Given the description of an element on the screen output the (x, y) to click on. 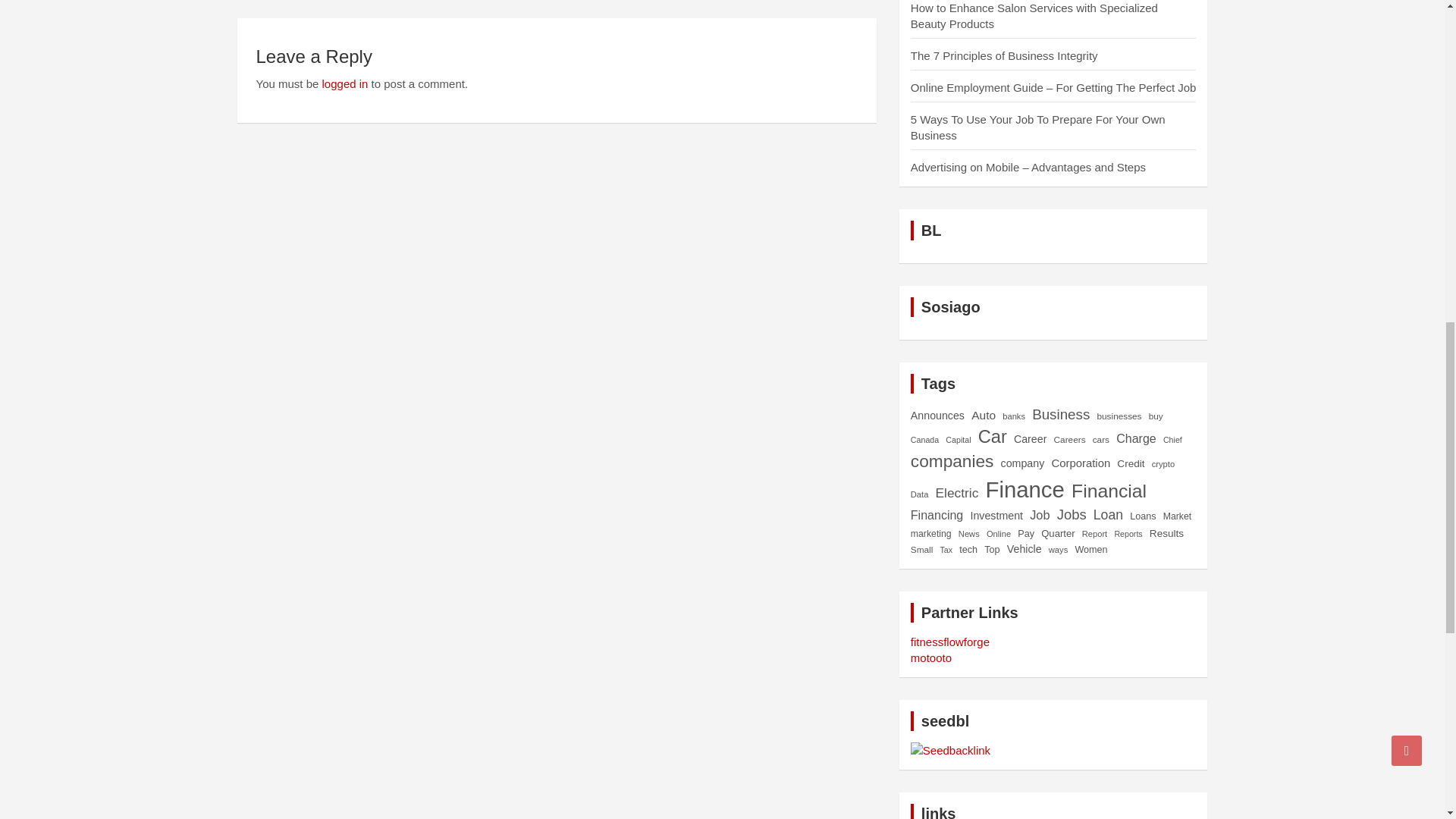
logged in (344, 83)
5 Ways To Use Your Job To Prepare For Your Own Business (1038, 127)
Announces (937, 415)
Business (1060, 413)
banks (1014, 416)
The 7 Principles of Business Integrity (1004, 55)
Seedbacklink (950, 750)
